Given the description of an element on the screen output the (x, y) to click on. 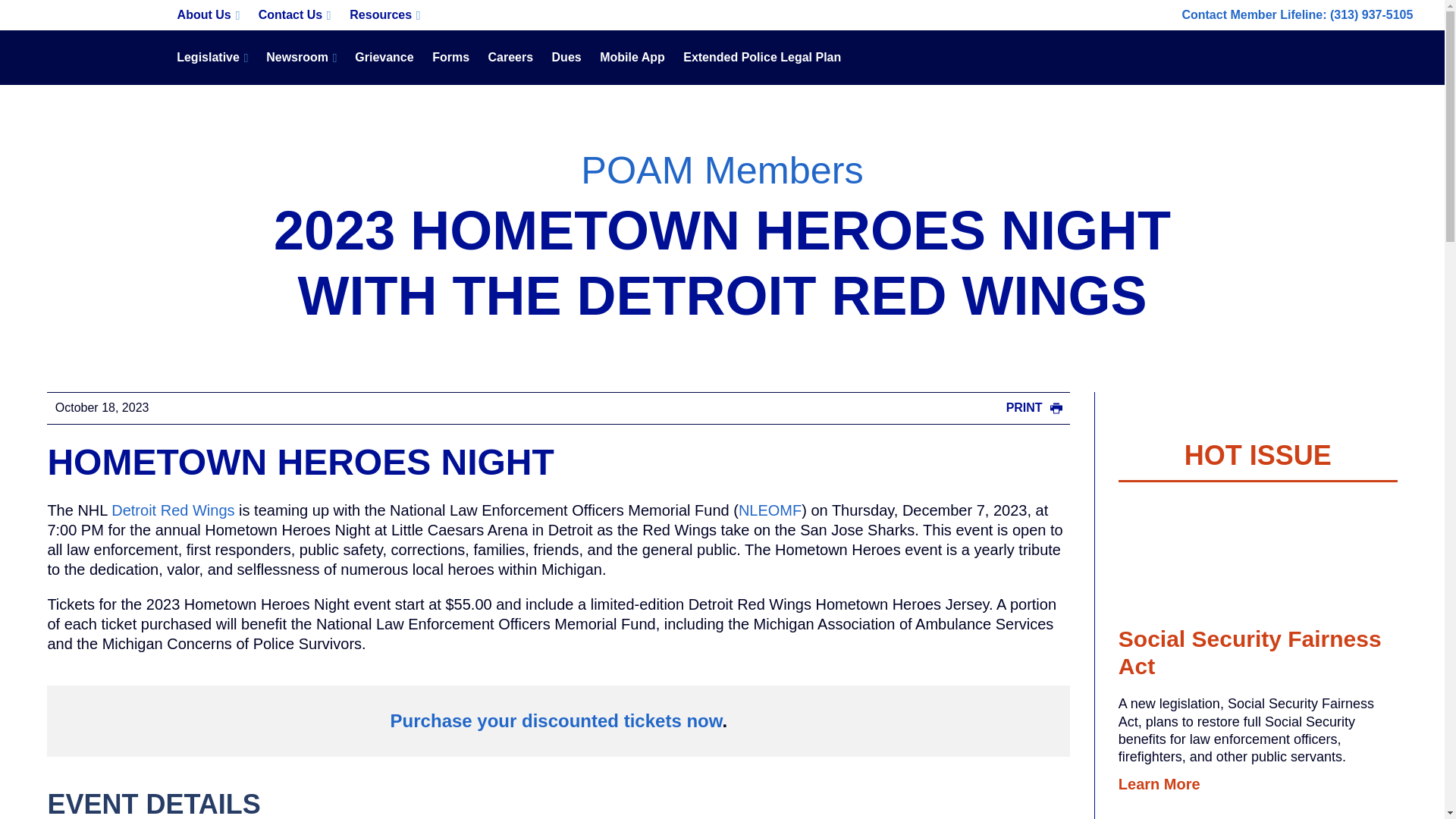
Mobile App (632, 57)
About Us (207, 15)
Forms (451, 57)
Police Officers Association of Michigan (85, 57)
Newsroom (301, 57)
Resources (385, 15)
Contact Us (293, 15)
Grievance (383, 57)
Careers (510, 57)
Legislative (212, 57)
